Given the description of an element on the screen output the (x, y) to click on. 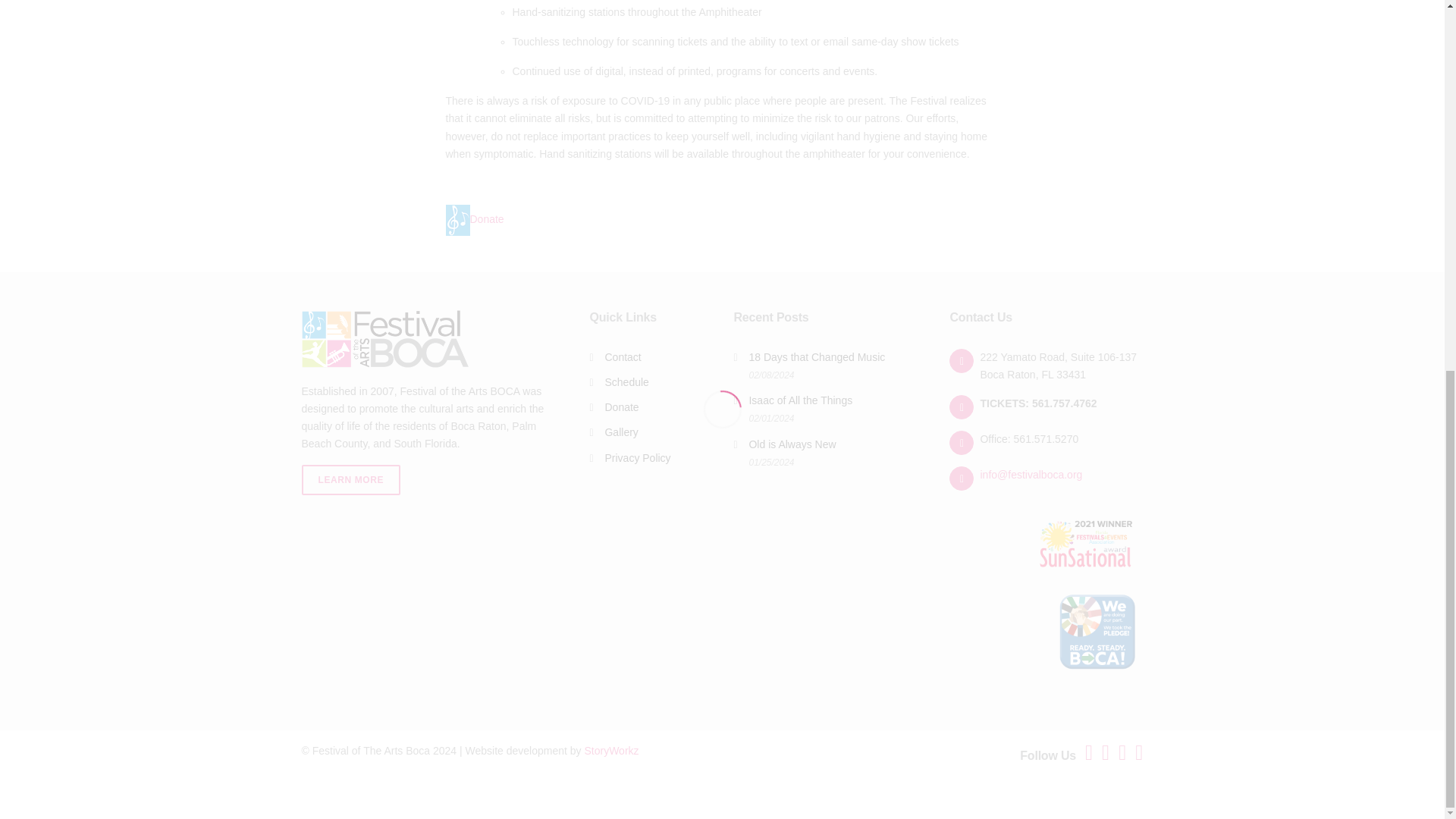
Donate (474, 218)
Contact (622, 357)
LEARN MORE (351, 480)
